Given the description of an element on the screen output the (x, y) to click on. 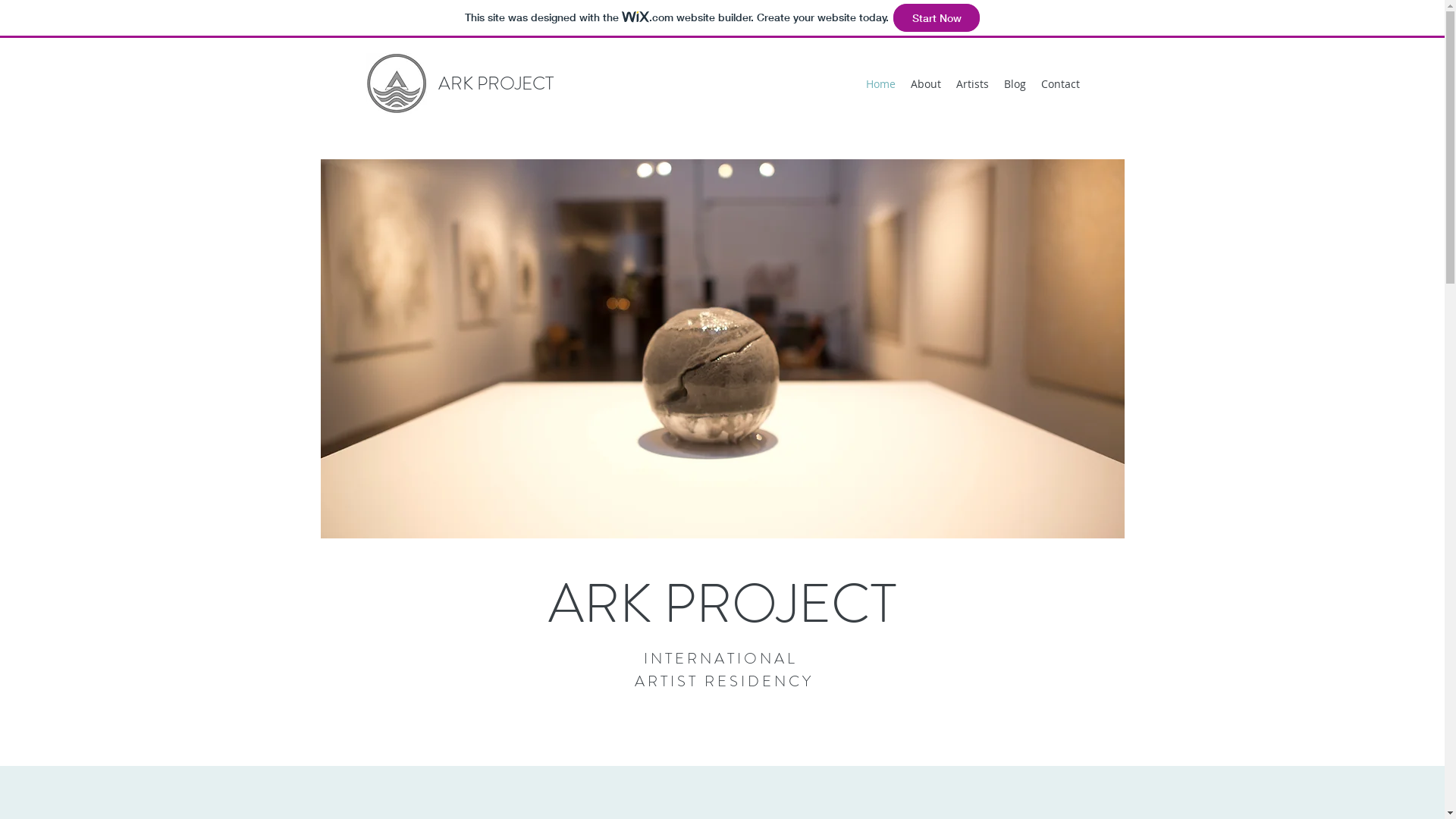
About Element type: text (924, 83)
Blog Element type: text (1014, 83)
Home Element type: text (880, 83)
Contact Element type: text (1059, 83)
Artists Element type: text (971, 83)
